Given the description of an element on the screen output the (x, y) to click on. 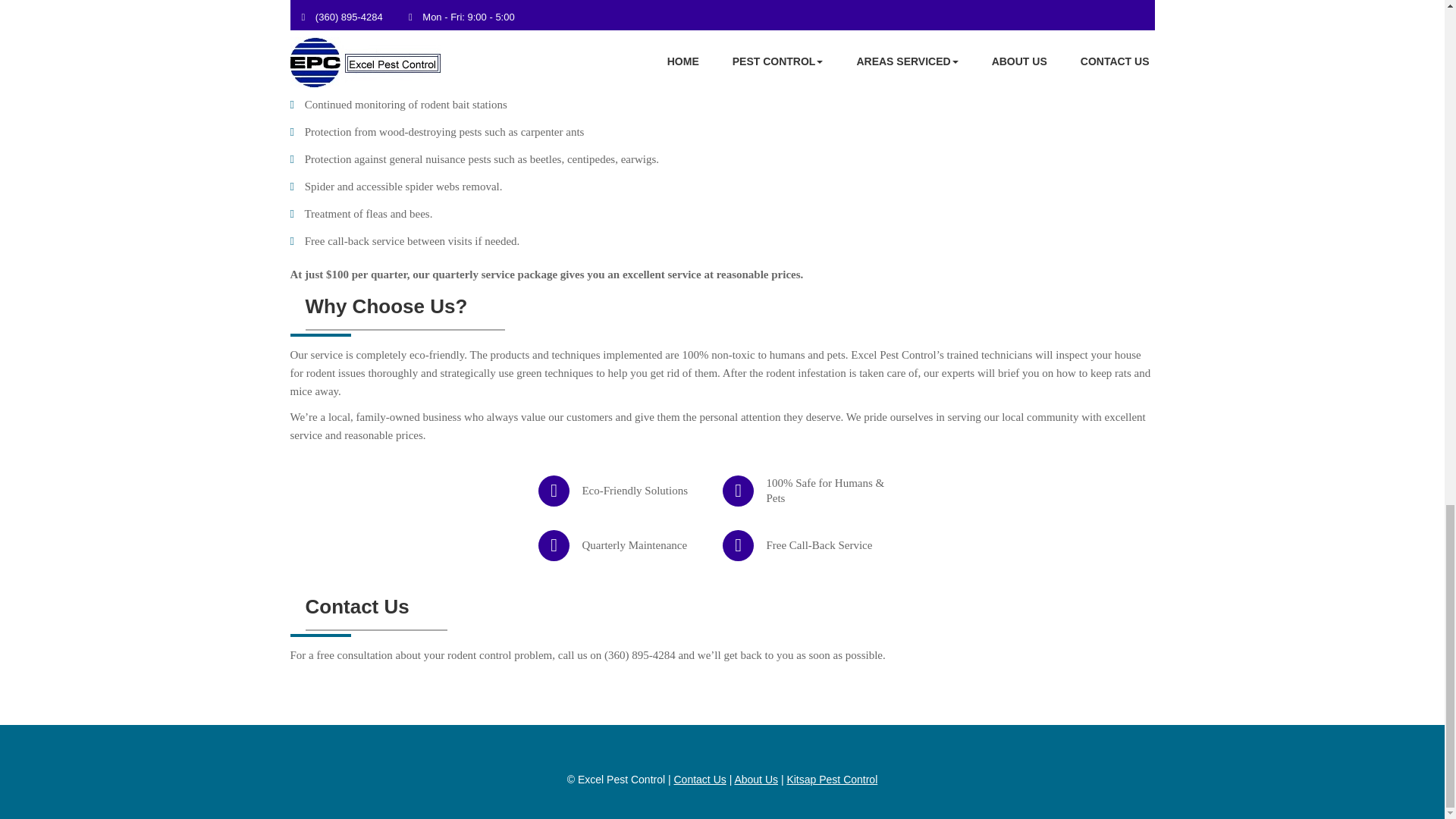
About Us (755, 779)
Contact Us (698, 779)
Kitsap Pest Control (831, 779)
